Given the description of an element on the screen output the (x, y) to click on. 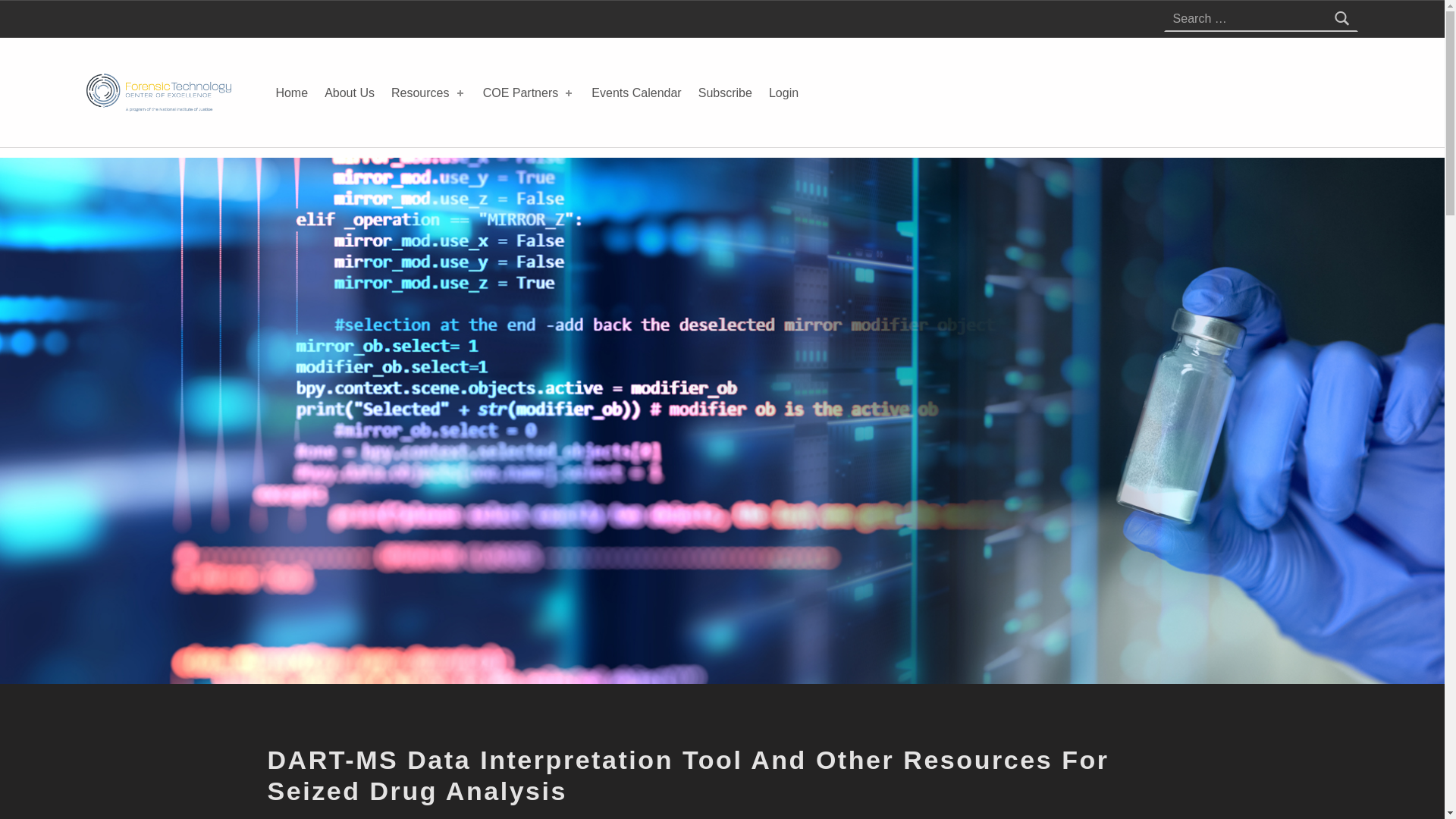
Home (291, 92)
About Us (349, 92)
Login to the learning panel. (783, 92)
COE Partners (529, 92)
Resources (428, 92)
